Given the description of an element on the screen output the (x, y) to click on. 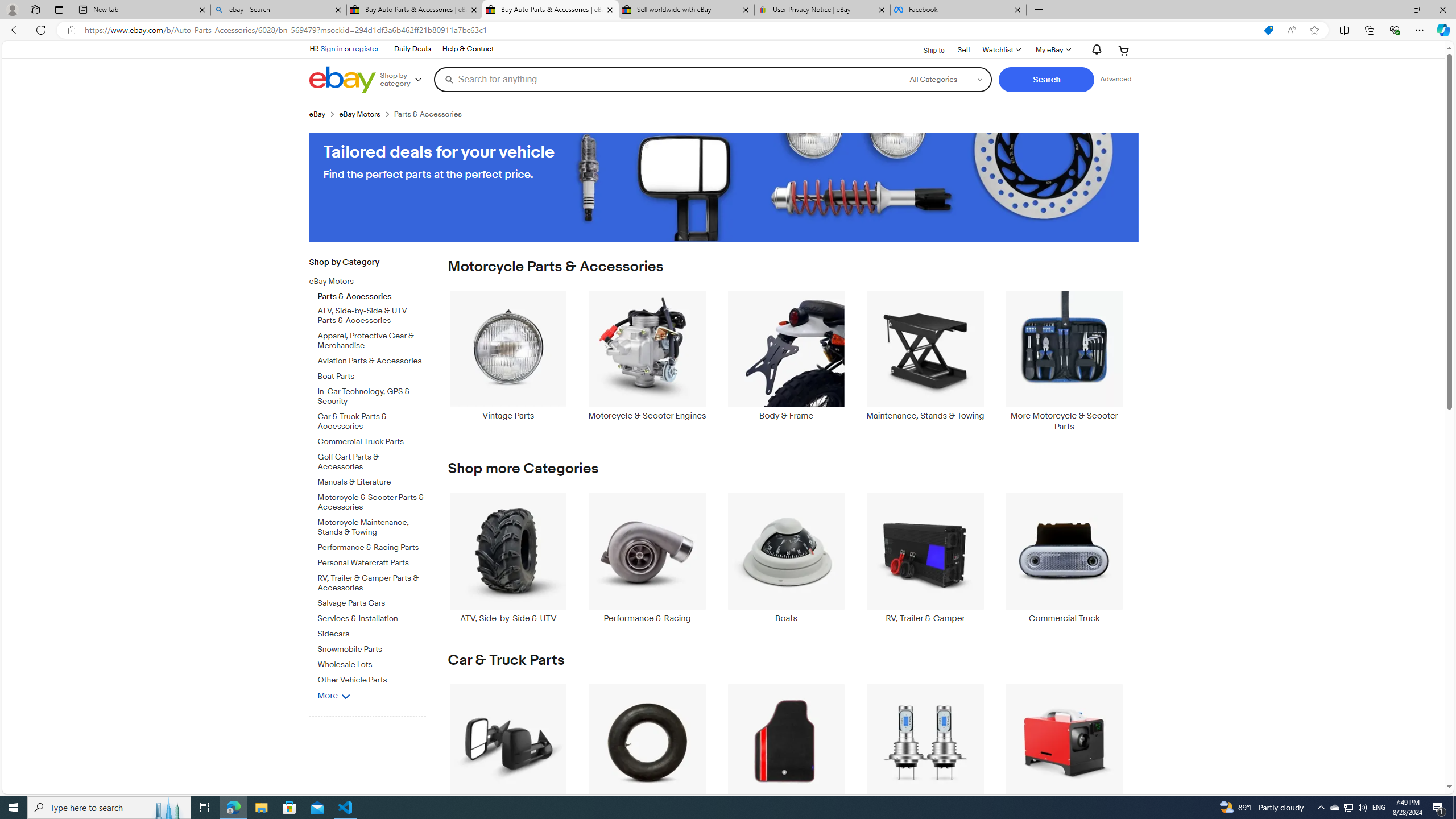
Services & Installation (371, 616)
In-Car Technology, GPS & Security (371, 396)
Commercial Truck (1064, 558)
Snowmobile Parts (371, 647)
Exterior Parts & Accessories (508, 748)
Sell (963, 49)
Watchlist (1000, 49)
Golf Cart Parts & Accessories (371, 462)
Body & Frame (786, 355)
Motorcycle & Scooter Engines (646, 360)
Services & Installation (371, 618)
Personal Watercraft Parts (371, 560)
Help & Contact (467, 49)
Parts & Accessories (371, 294)
Apparel, Protective Gear & Merchandise (371, 340)
